Given the description of an element on the screen output the (x, y) to click on. 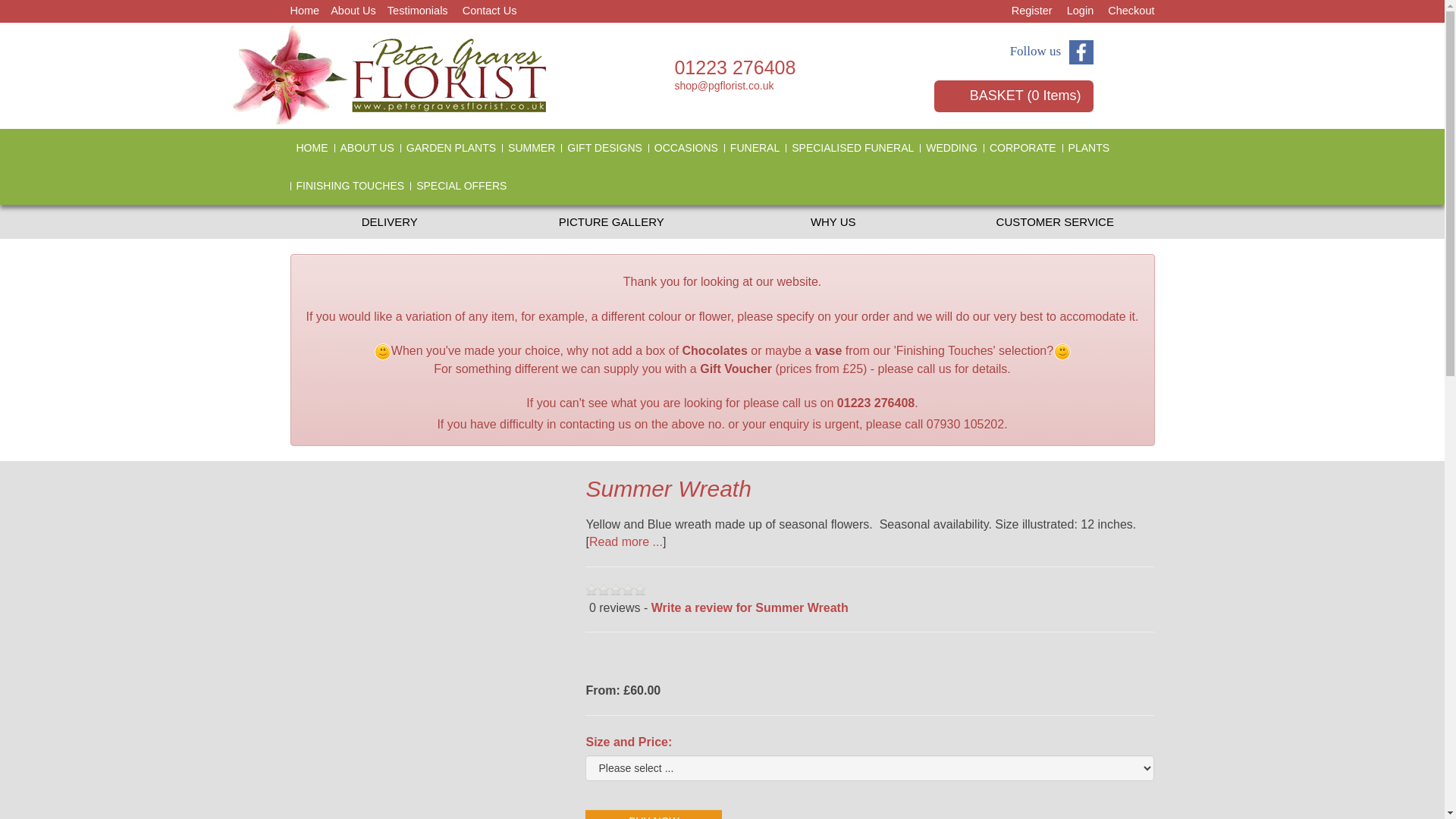
ABOUT US (365, 147)
smiley (1061, 352)
About Us (352, 11)
HOME (311, 147)
Checkout (1131, 11)
smiley (382, 352)
Contact Us (489, 11)
Register (1031, 11)
SUMMER (531, 147)
Login (1080, 11)
GIFT DESIGNS (603, 147)
Testimonials (417, 11)
OCCASIONS (685, 147)
Home (303, 11)
BUY NOW (653, 814)
